Given the description of an element on the screen output the (x, y) to click on. 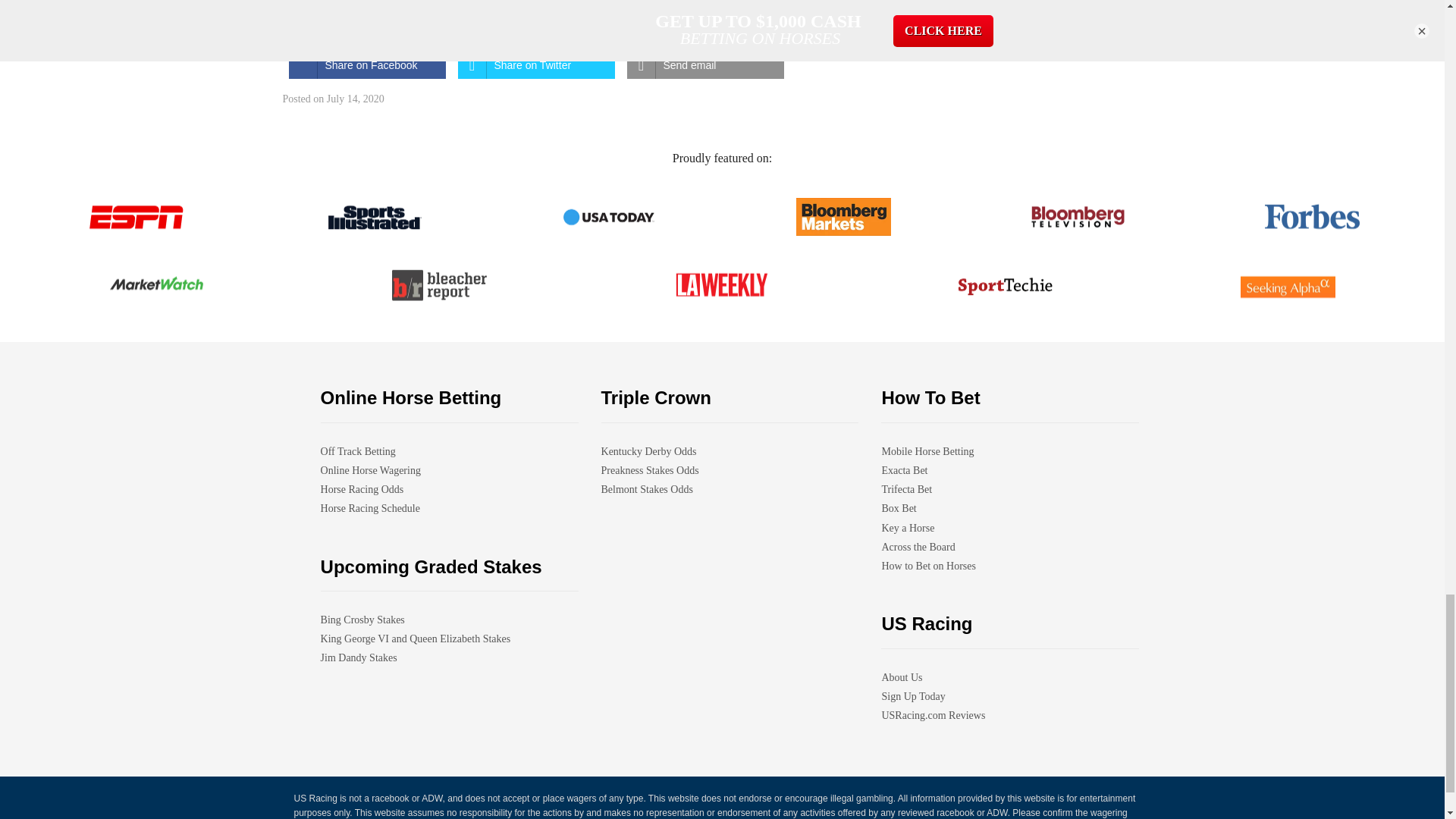
Share on Facebook (366, 65)
Share it on Email (704, 65)
Share on Twitter (536, 65)
